Given the description of an element on the screen output the (x, y) to click on. 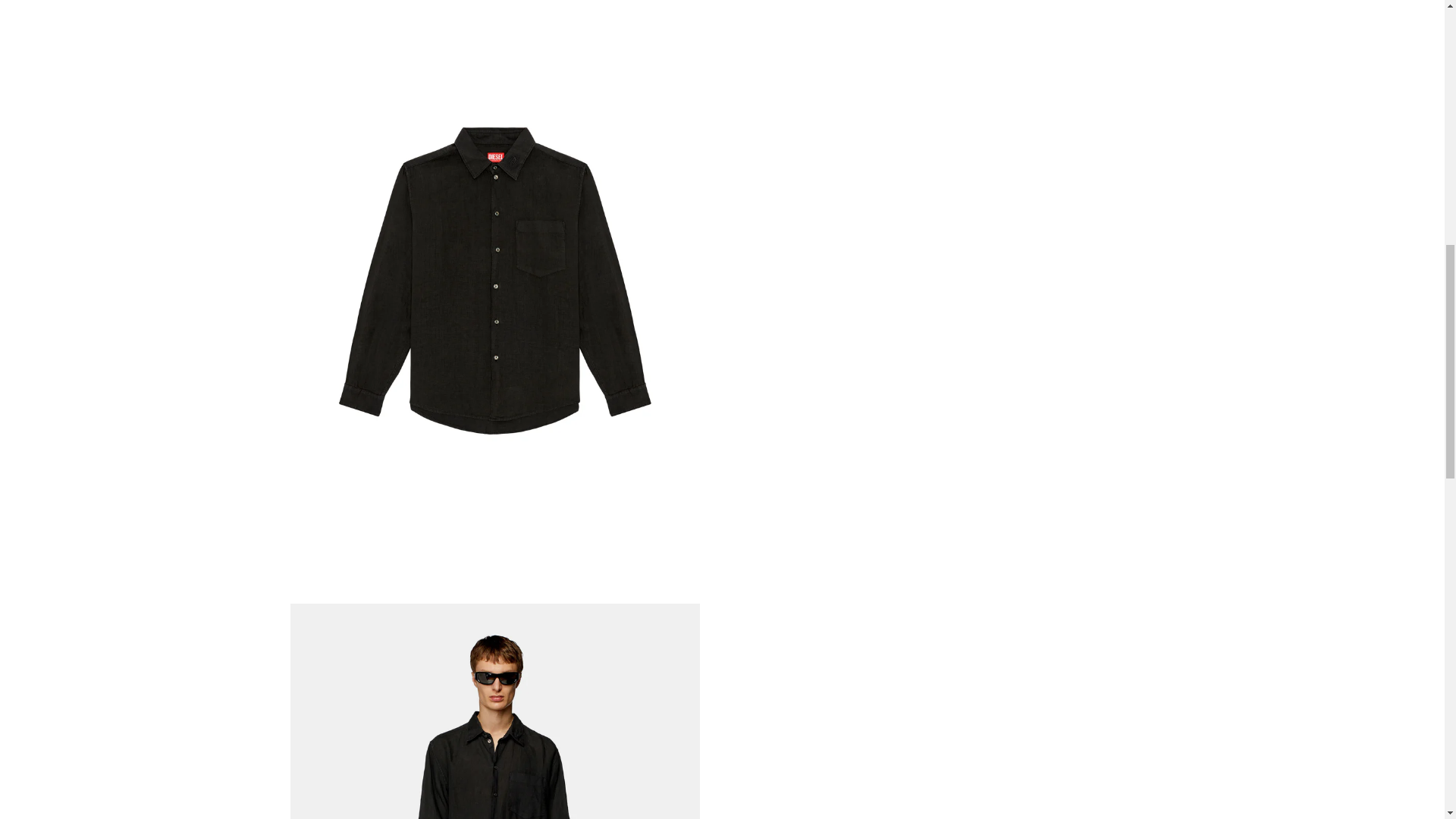
DIESEL S-Emil Shirt - Black (493, 711)
